Given the description of an element on the screen output the (x, y) to click on. 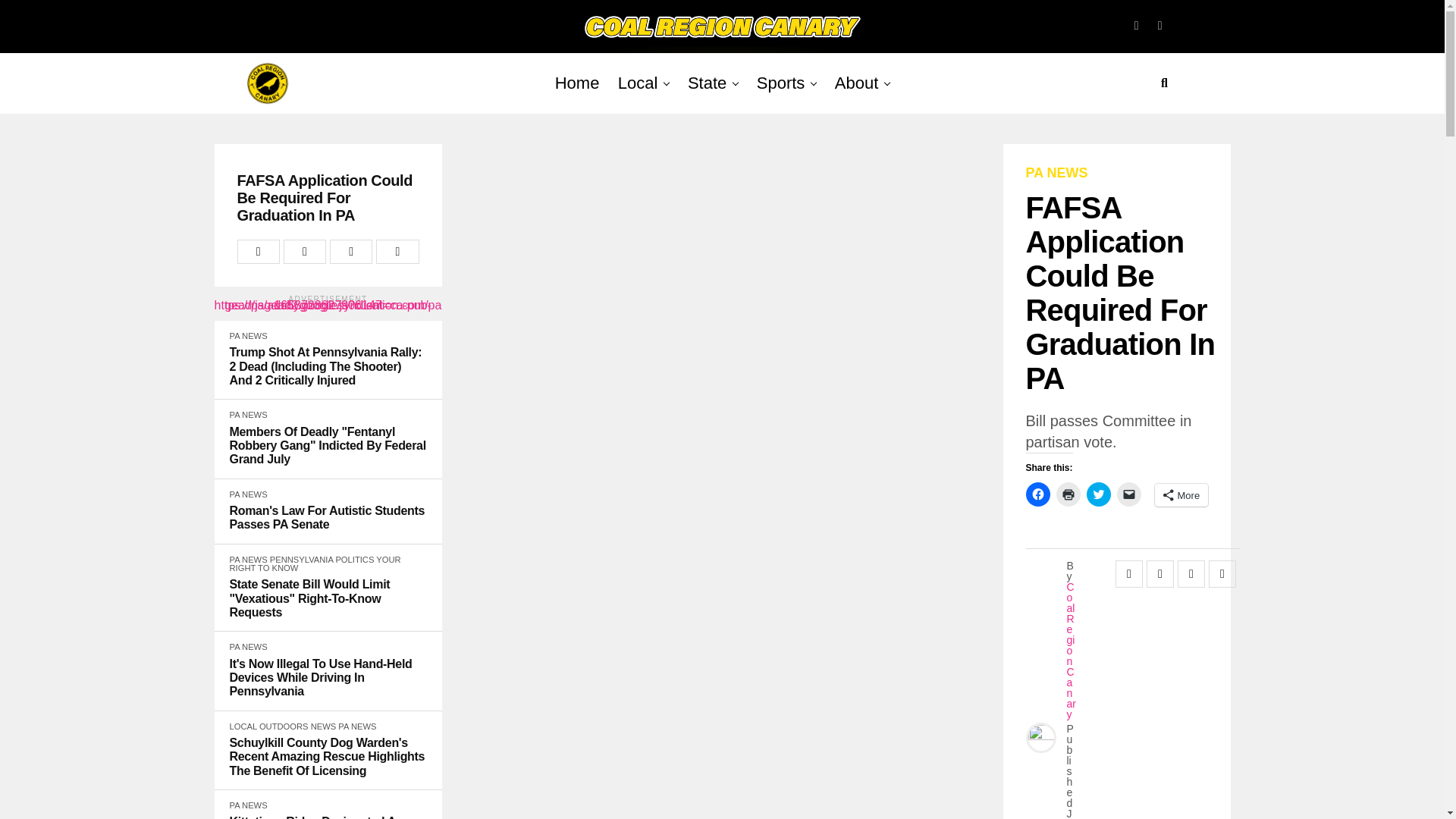
Home (577, 83)
Share on Facebook (257, 251)
Local (637, 83)
Tweet This Post (304, 251)
Share on Flipboard (351, 251)
